Given the description of an element on the screen output the (x, y) to click on. 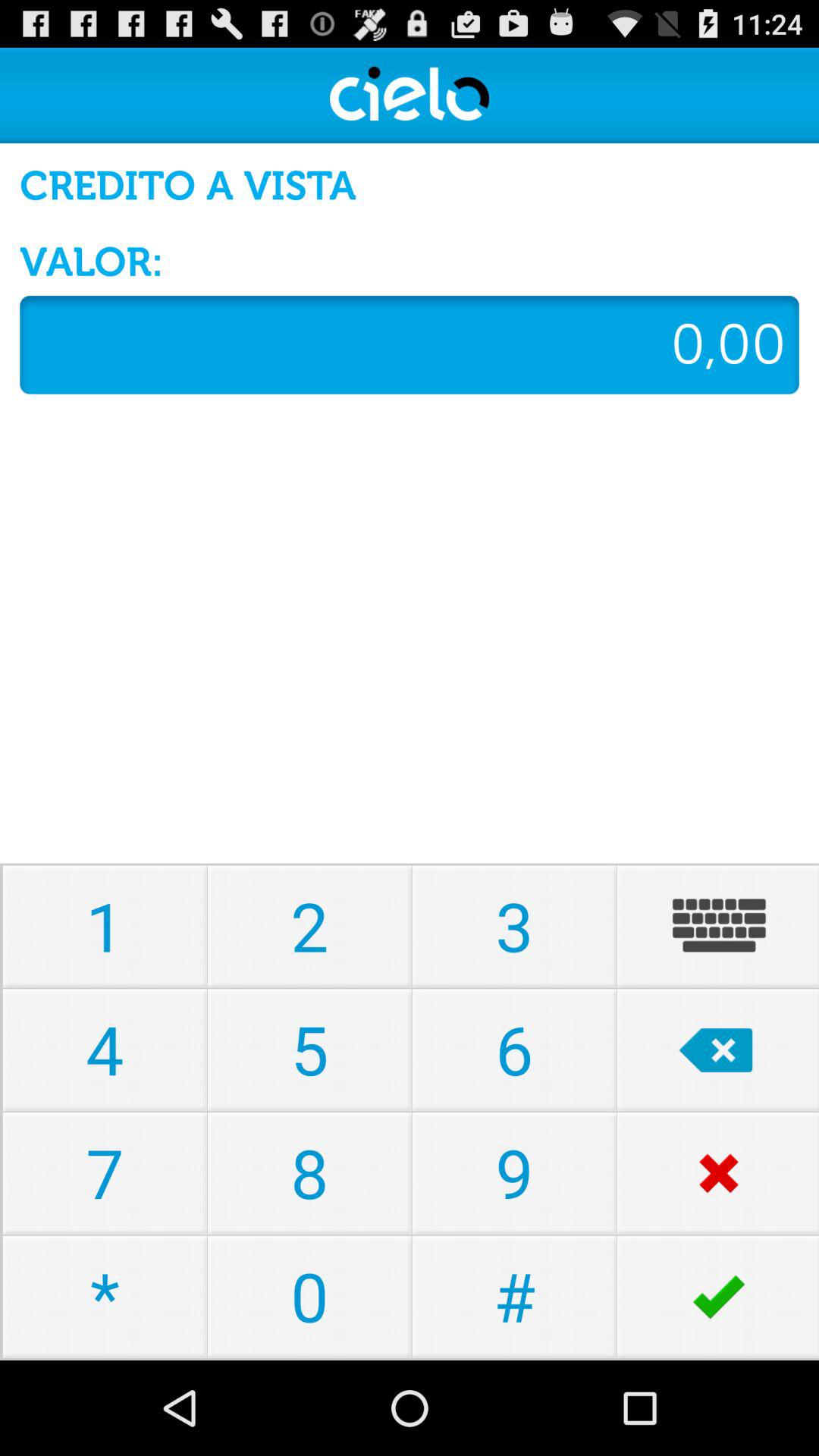
enter the amount (409, 344)
